Given the description of an element on the screen output the (x, y) to click on. 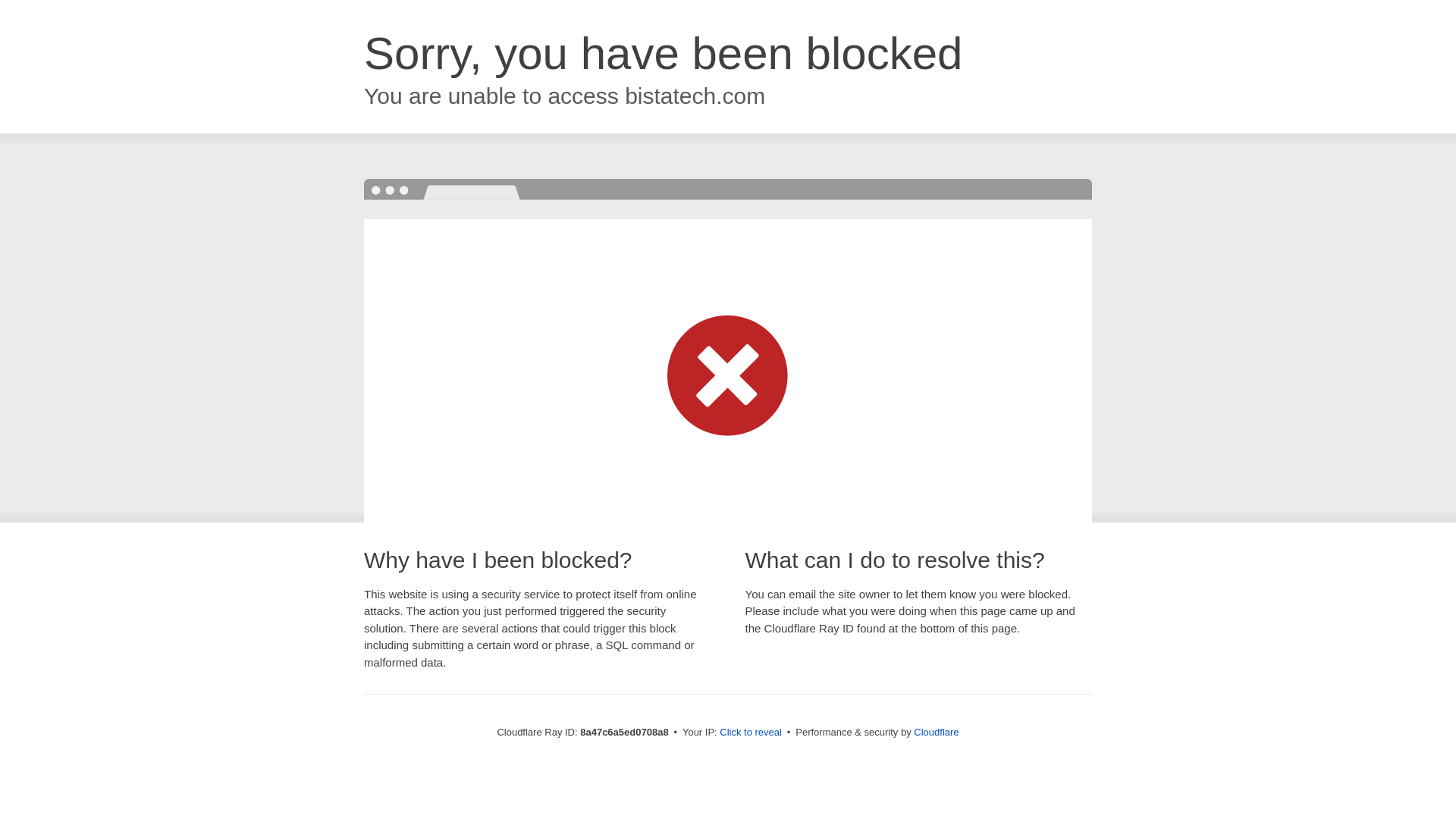
Click to reveal (750, 732)
Cloudflare (936, 731)
